Given the description of an element on the screen output the (x, y) to click on. 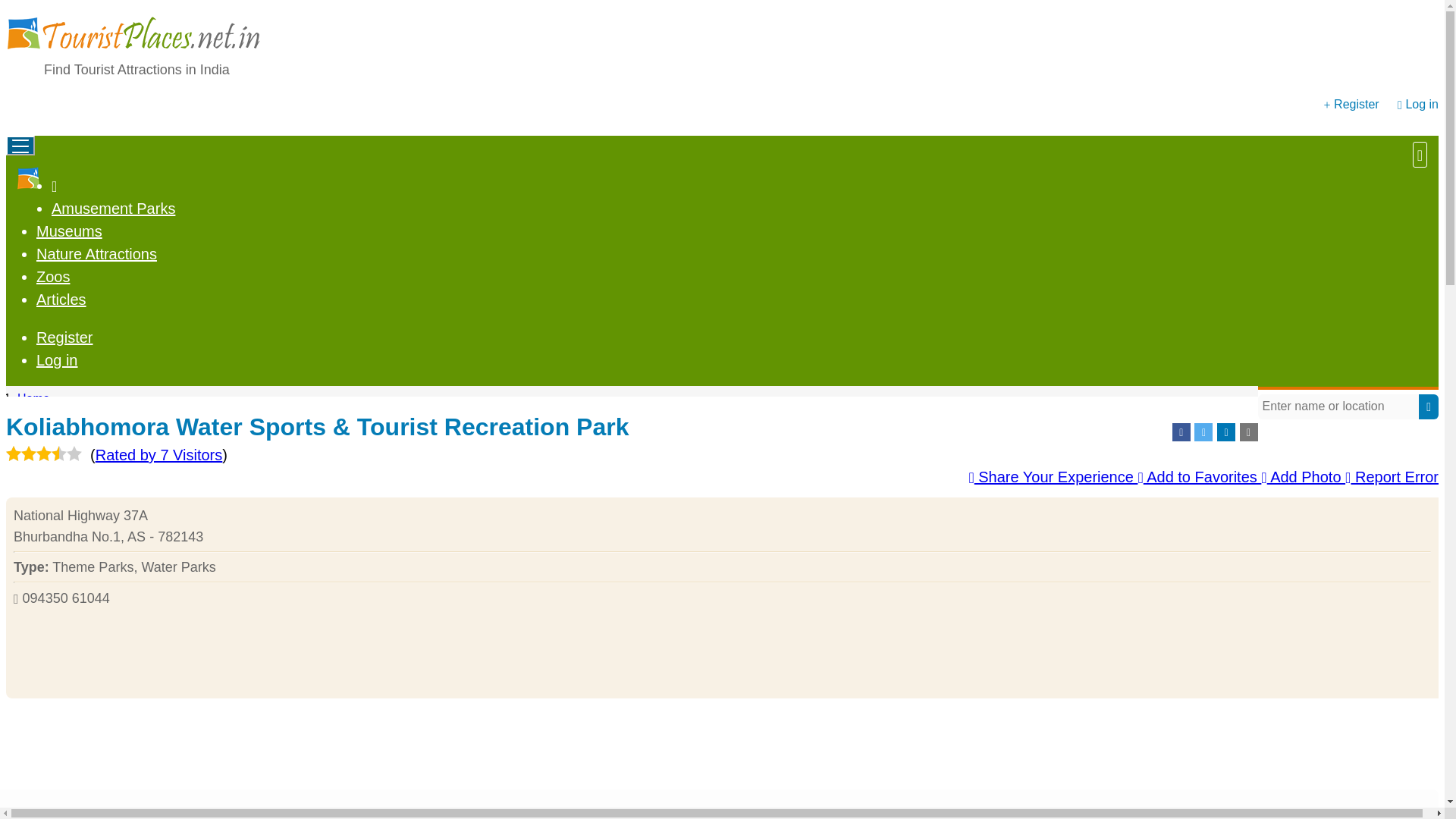
Zoos (52, 276)
Find Tourist Attractions in India (136, 69)
Add to Favorites (1198, 476)
www.touristplaces.net.in (133, 36)
Find Tourist Attractions in India (136, 69)
Rated by 7 Visitors (159, 454)
Log in (1421, 103)
Register (64, 337)
www.touristplaces.net.in (28, 178)
Nature Attractions (96, 253)
Add Photo (1302, 476)
Share Your Experience (1052, 476)
Report Error (1391, 476)
Articles (60, 299)
www.touristplaces.net.in (133, 54)
